Given the description of an element on the screen output the (x, y) to click on. 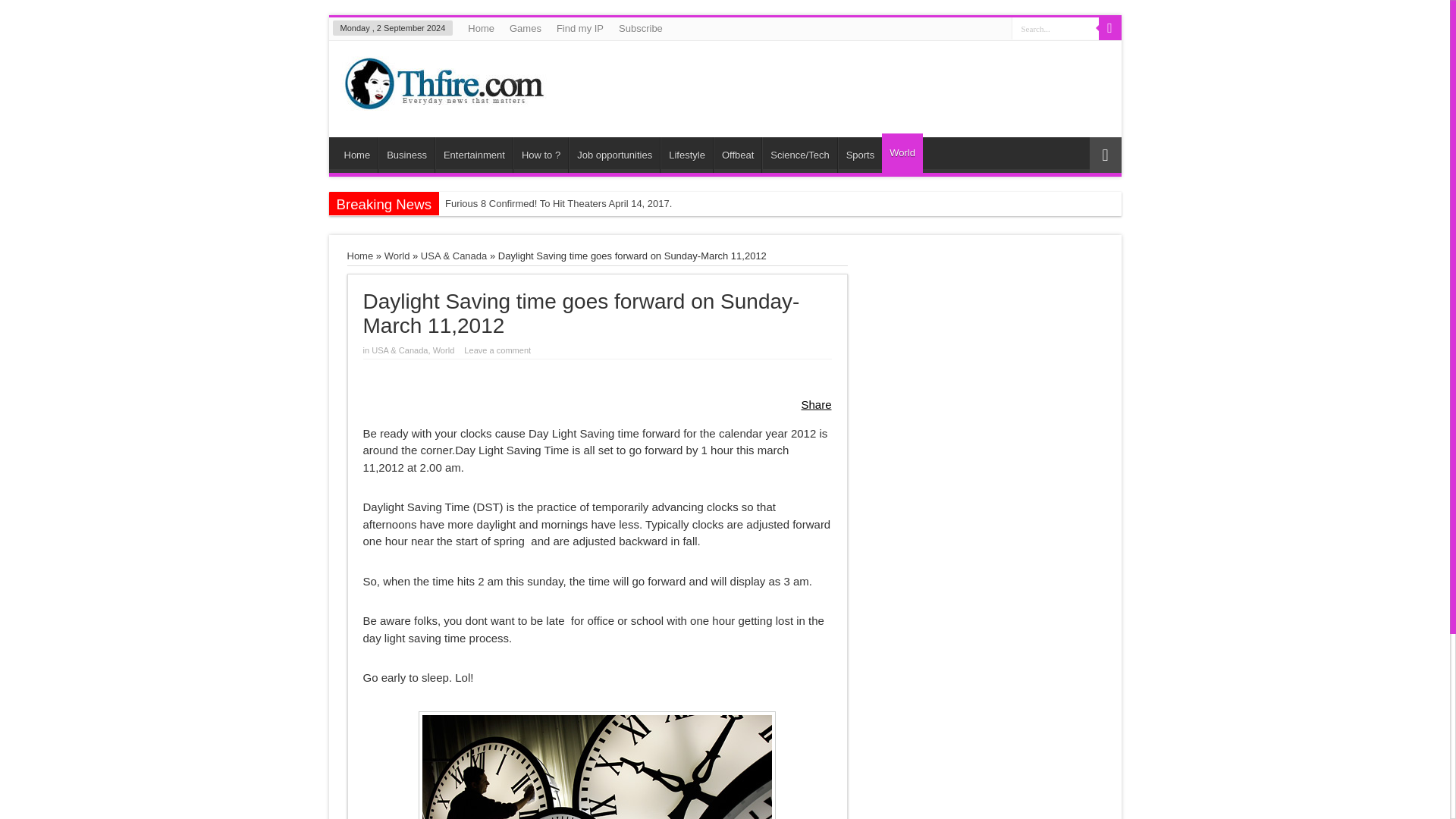
Kawhi Leonard Named NBA Defensive Player of the Year 2015-16 (593, 227)
Home (357, 154)
Home (481, 28)
Find my IP (579, 28)
Games (525, 28)
Kawhi Leonard Named NBA Defensive Player of the Year 2015-16 (593, 227)
Job opportunities (614, 154)
Subscribe (640, 28)
Search... (1055, 28)
